Given the description of an element on the screen output the (x, y) to click on. 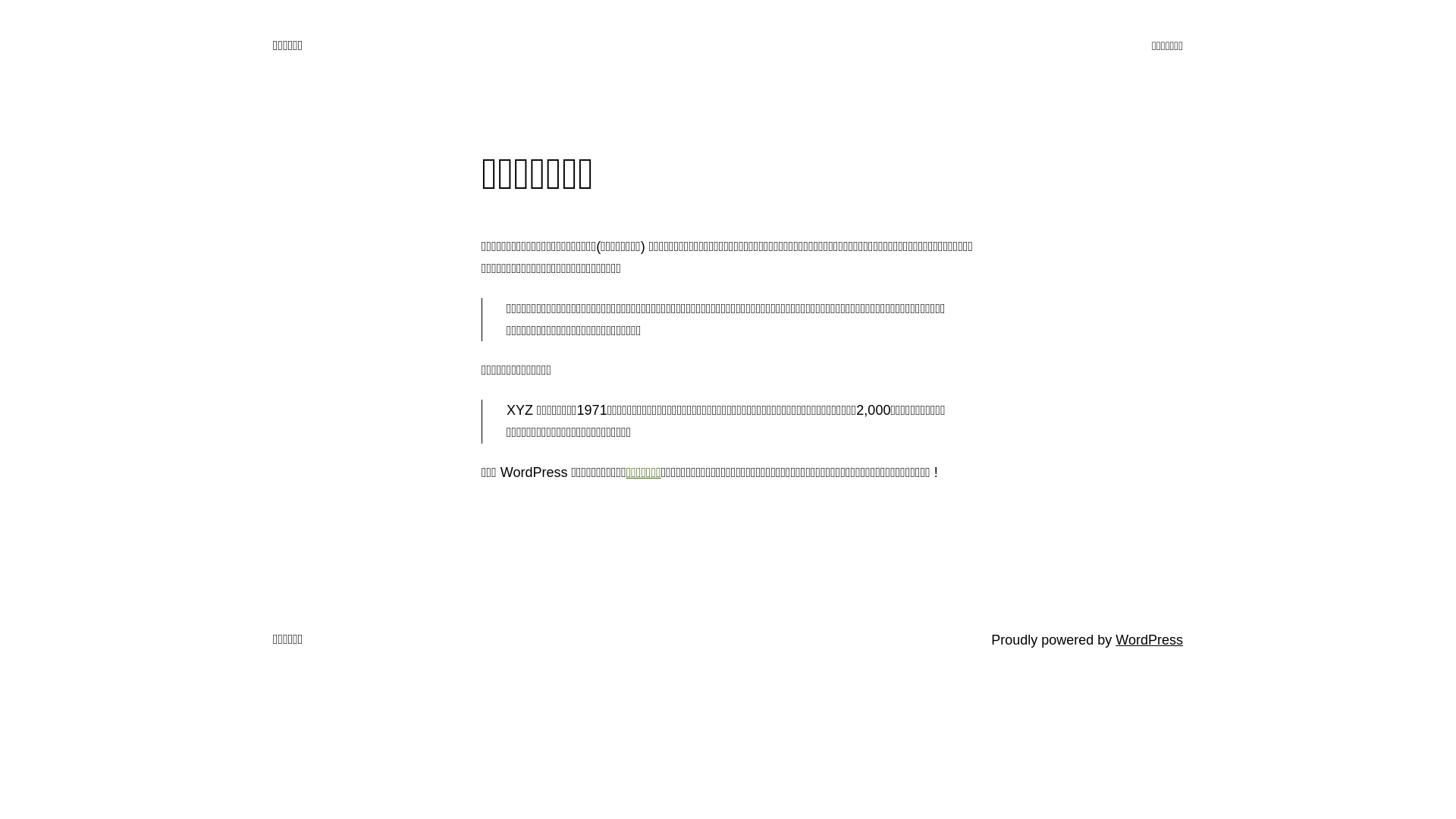
WordPress Element type: text (1149, 639)
